Given the description of an element on the screen output the (x, y) to click on. 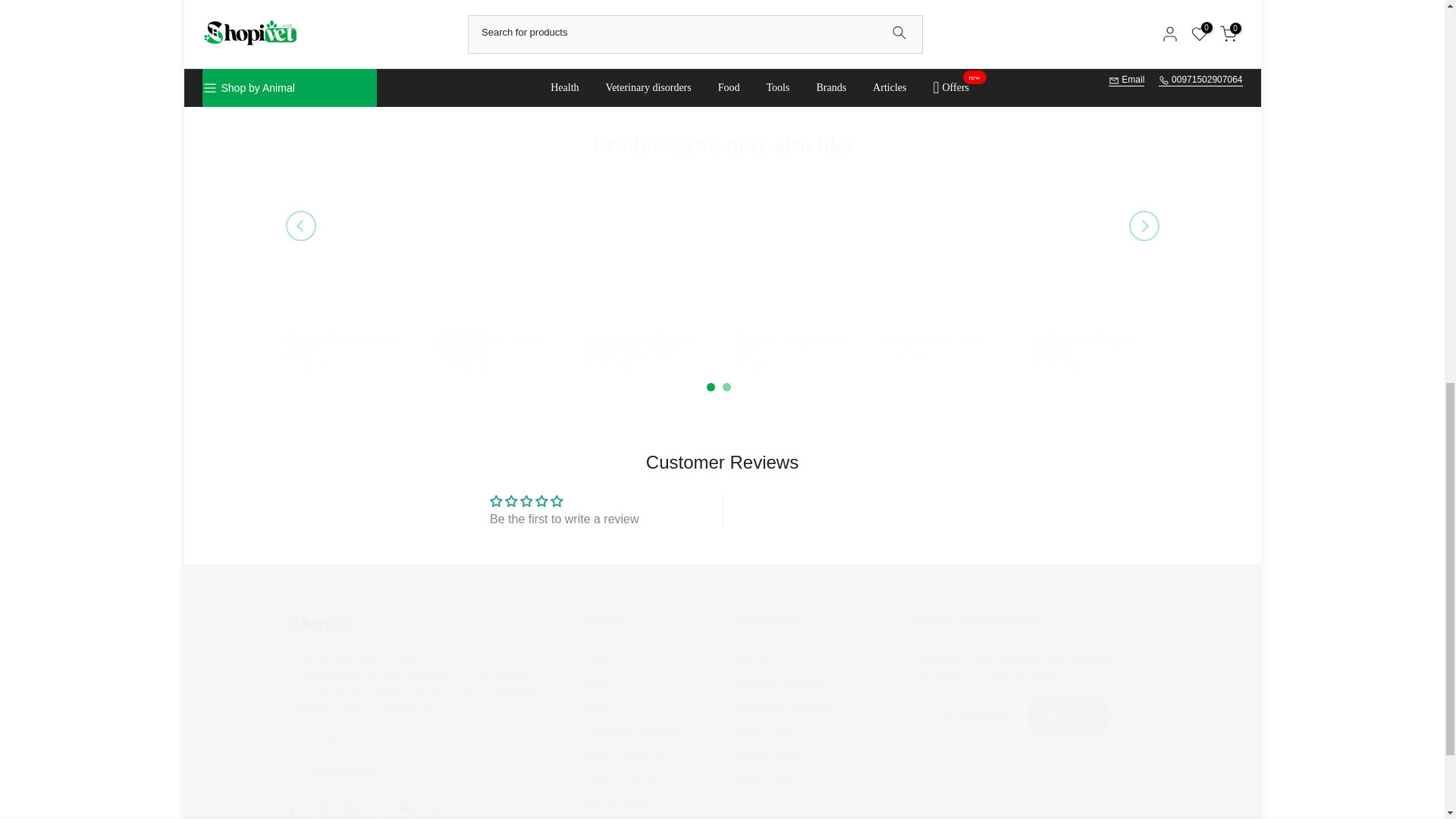
Follow us on Instagram (349, 809)
Follow us on Facebook (291, 809)
Follow us on Tik Tok (435, 809)
Follow us on YouTube (406, 809)
1 (819, 35)
Follow us on Twitter (320, 809)
Follow us on Snapchat (378, 809)
